Given the description of an element on the screen output the (x, y) to click on. 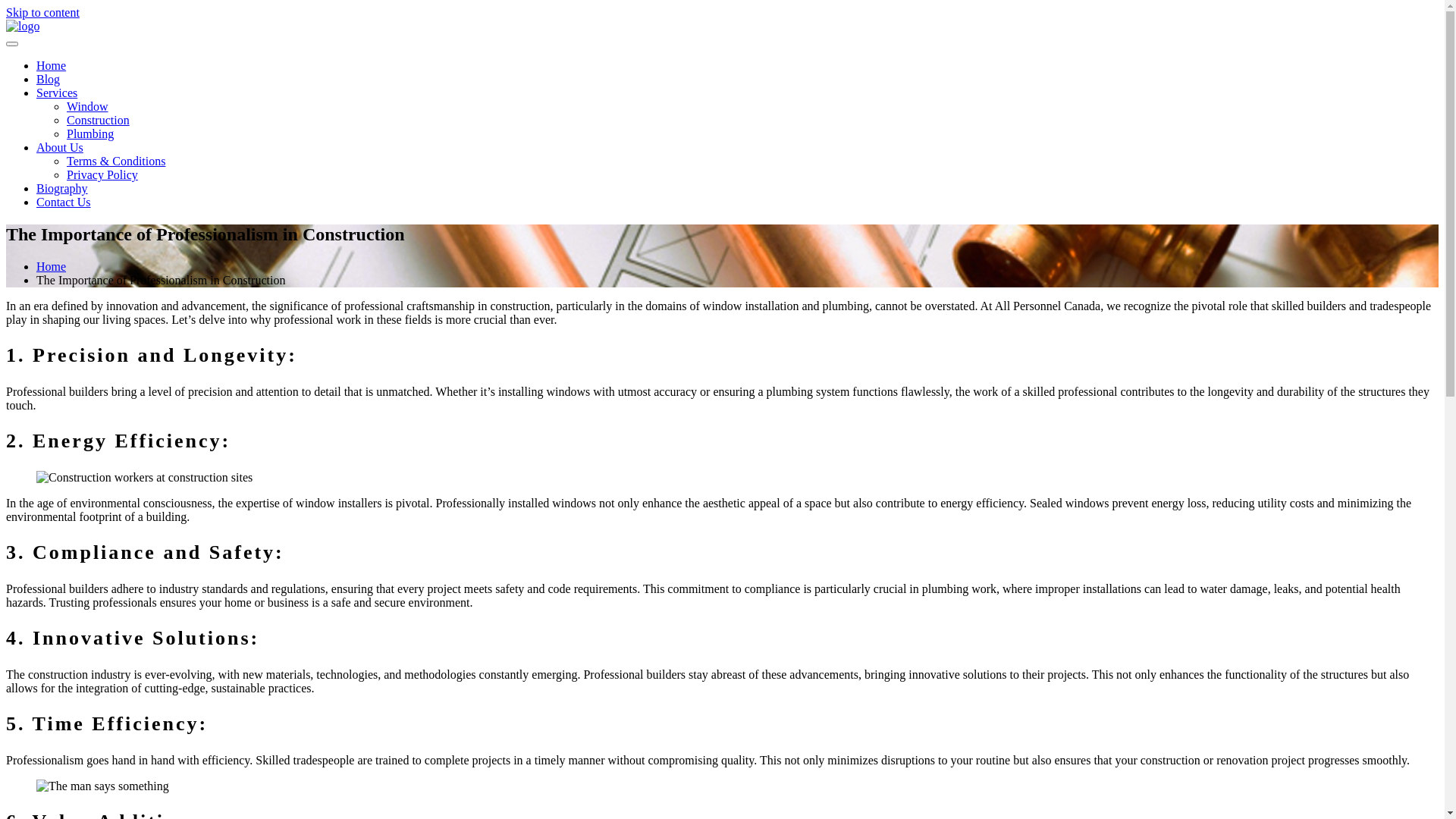
About Us Element type: text (59, 147)
Home Element type: text (50, 266)
Services Element type: text (56, 92)
Construction Element type: text (97, 119)
Skip to content Element type: text (42, 12)
Contact Us Element type: text (63, 201)
Terms & Conditions Element type: text (115, 160)
Home Element type: text (50, 65)
Window Element type: text (86, 106)
Plumbing Element type: text (89, 133)
Blog Element type: text (47, 78)
Privacy Policy Element type: text (102, 174)
Biography Element type: text (61, 188)
